Given the description of an element on the screen output the (x, y) to click on. 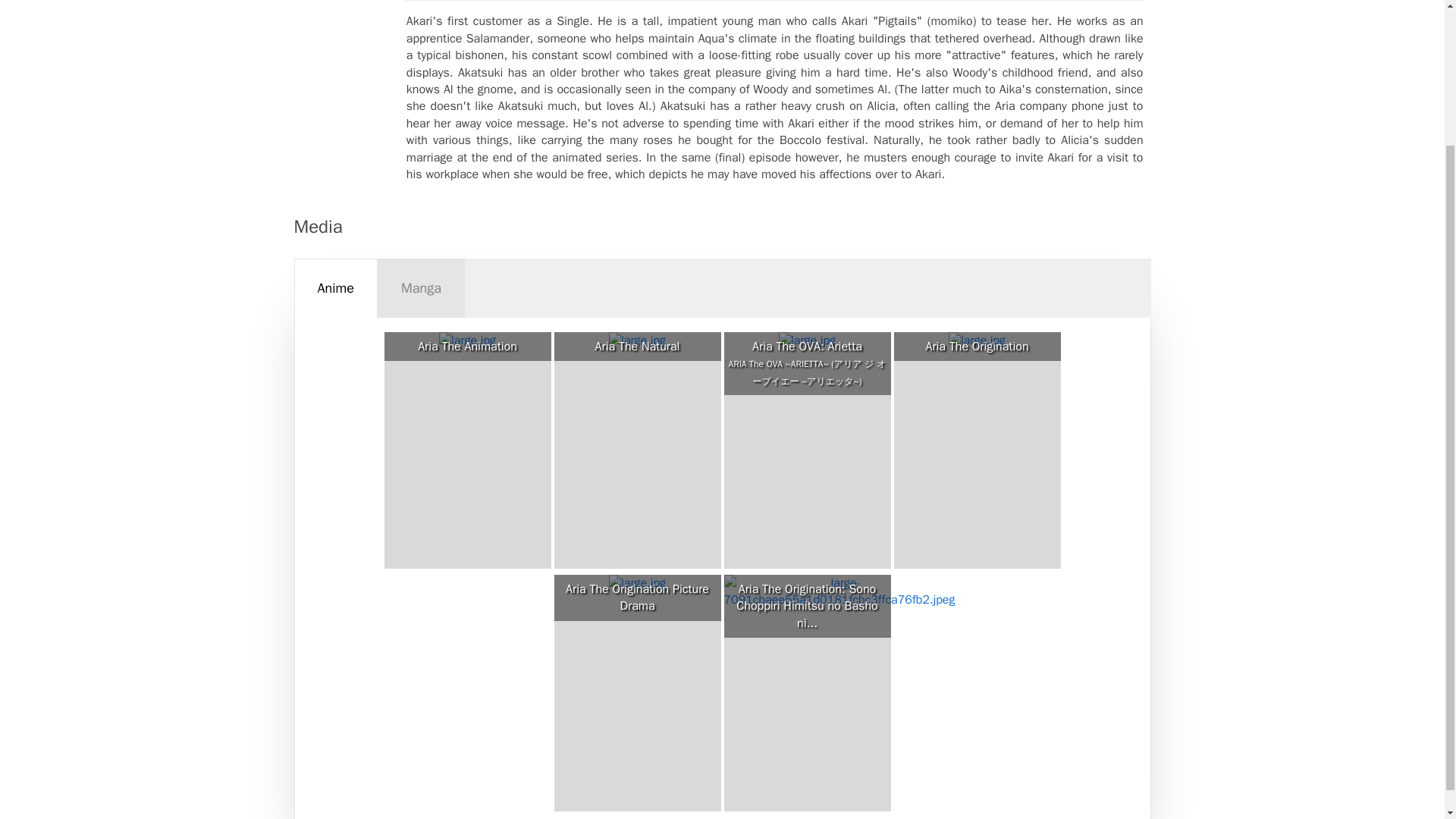
Aria The Origination Picture Drama (636, 597)
Aria The Natural (636, 346)
Aria The Animation (467, 346)
Aria The Origination (976, 346)
Aria The Origination: Sono Choppiri Himitsu no Basho ni... (806, 605)
